Given the description of an element on the screen output the (x, y) to click on. 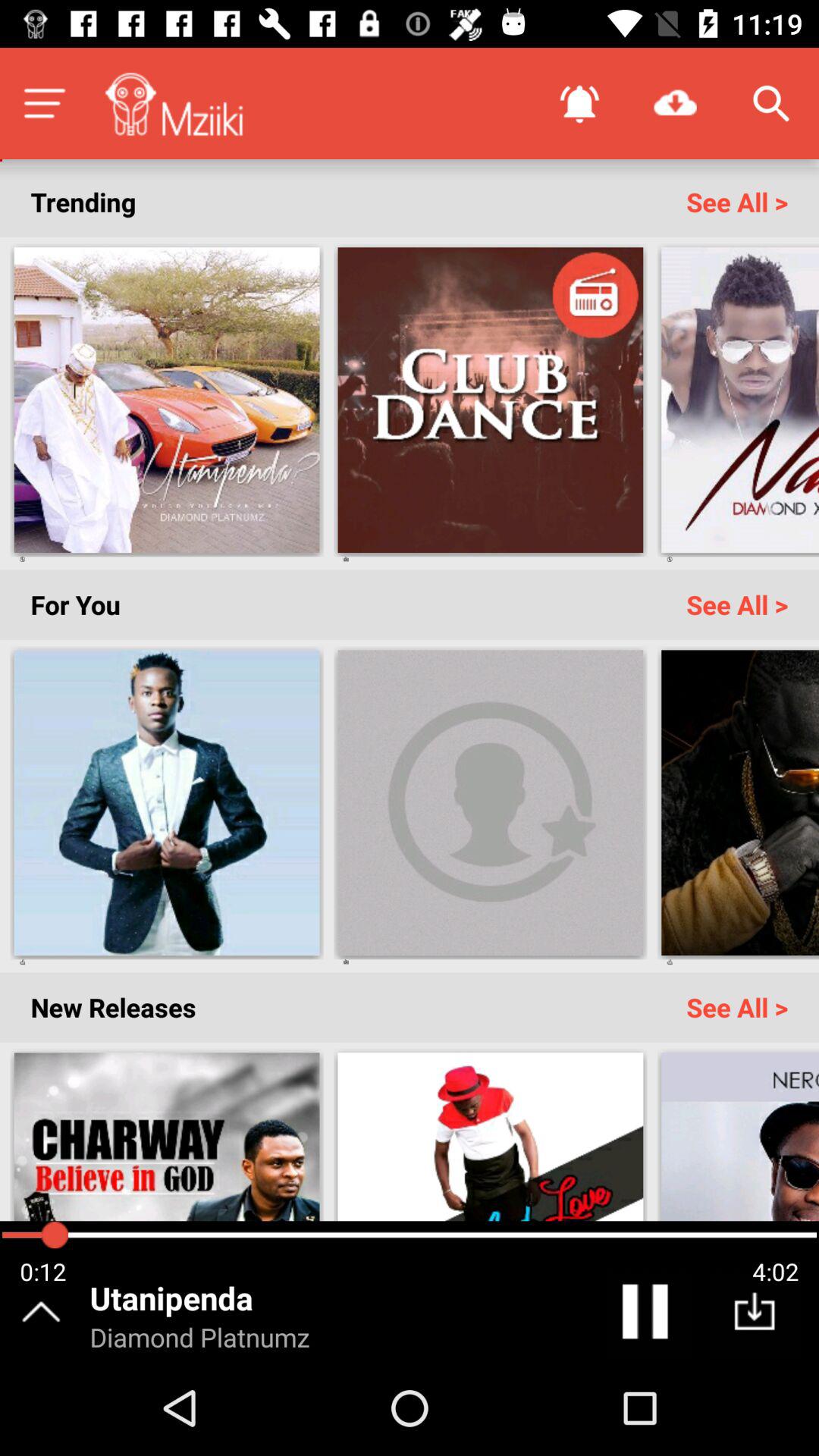
pause the track (647, 1315)
